Given the description of an element on the screen output the (x, y) to click on. 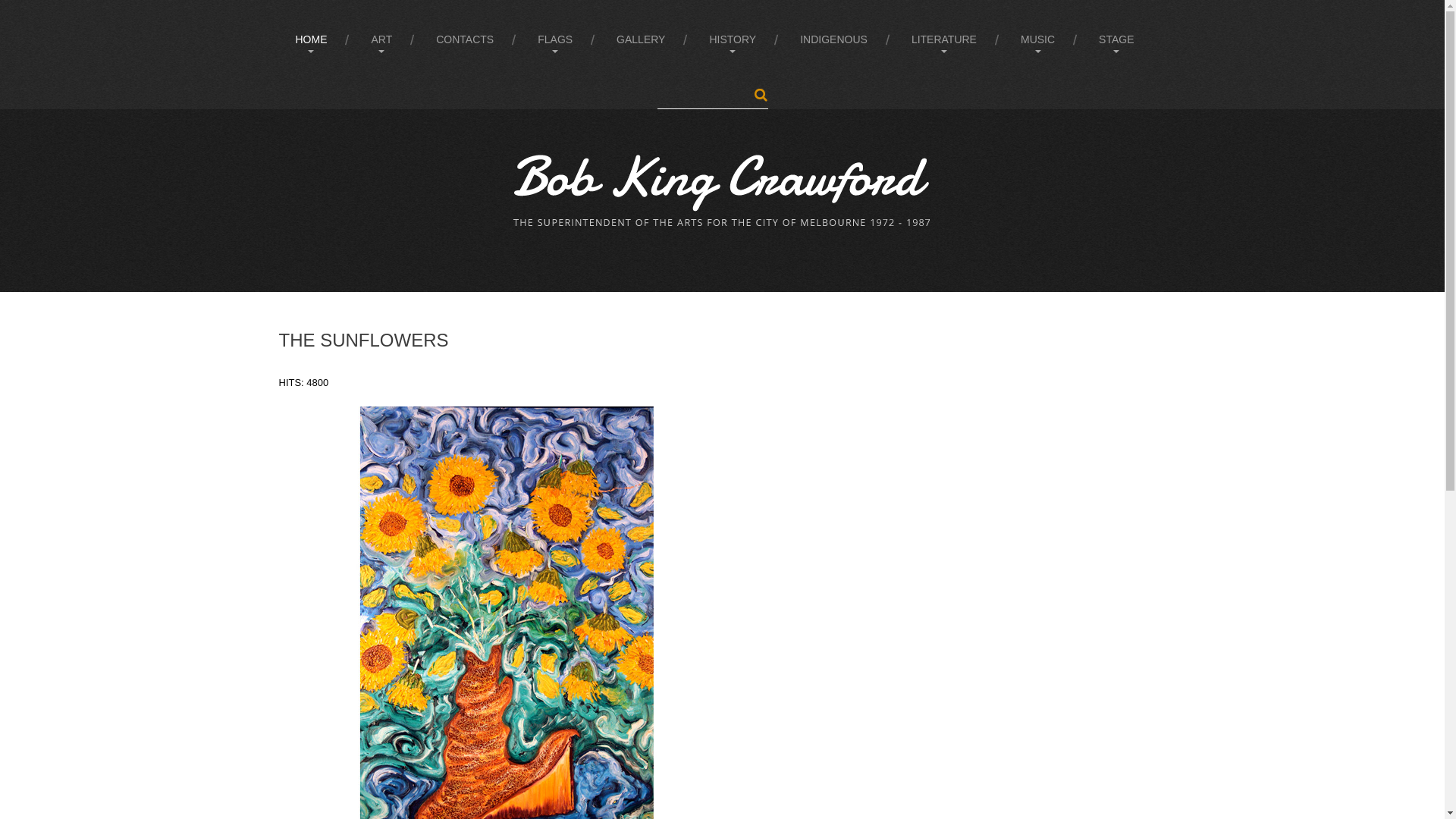
MUSIC Element type: text (1037, 39)
GALLERY Element type: text (640, 39)
INDIGENOUS Element type: text (833, 39)
ART Element type: text (381, 39)
LITERATURE Element type: text (943, 39)
HISTORY Element type: text (732, 39)
STAGE Element type: text (1115, 39)
FLAGS Element type: text (554, 39)
HOME Element type: text (310, 39)
Search Element type: text (759, 94)
CONTACTS Element type: text (464, 39)
